Given the description of an element on the screen output the (x, y) to click on. 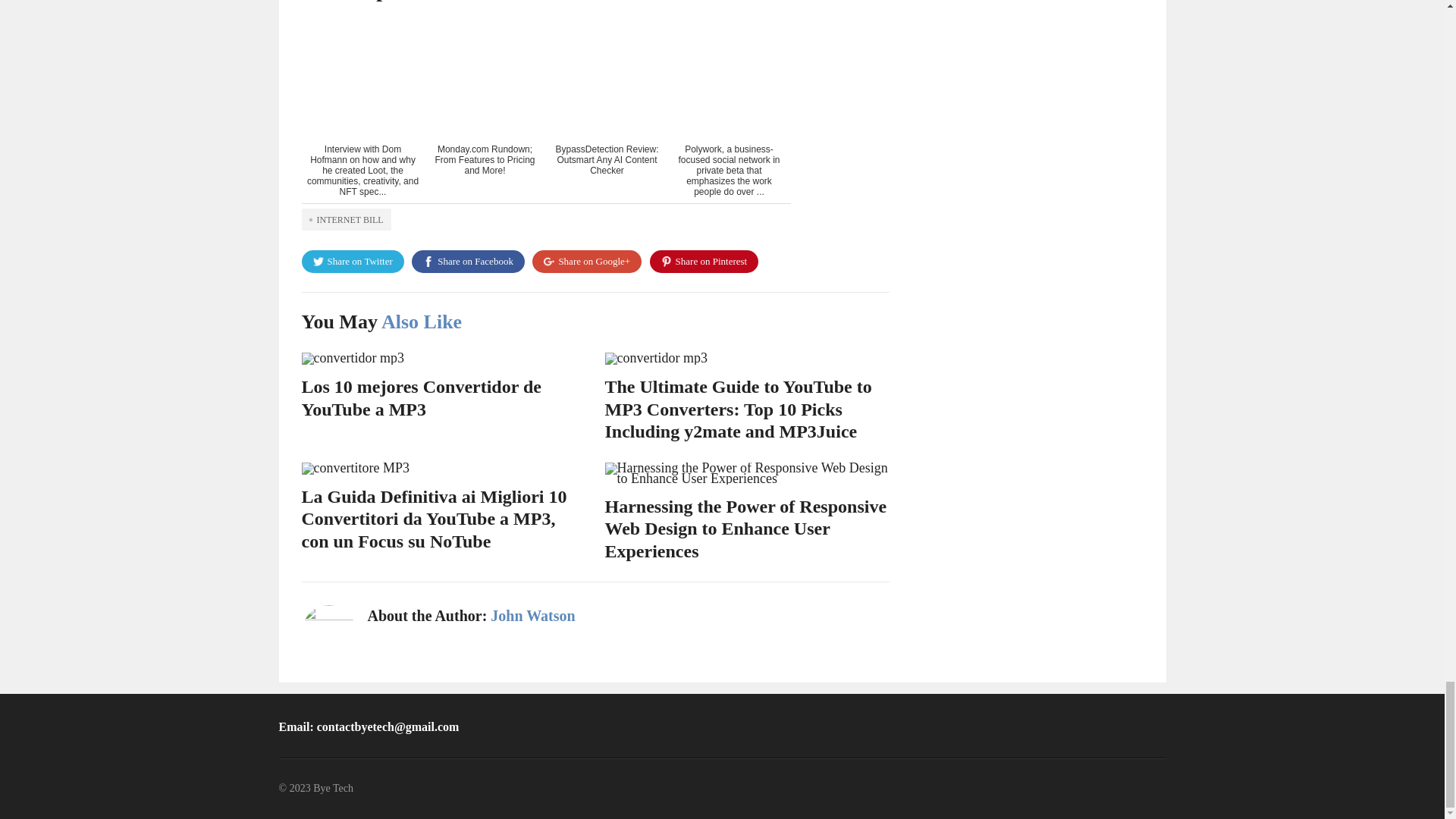
Share on Pinterest (703, 261)
Share on Facebook (468, 261)
INTERNET BILL (346, 219)
Share on Twitter (352, 261)
